Given the description of an element on the screen output the (x, y) to click on. 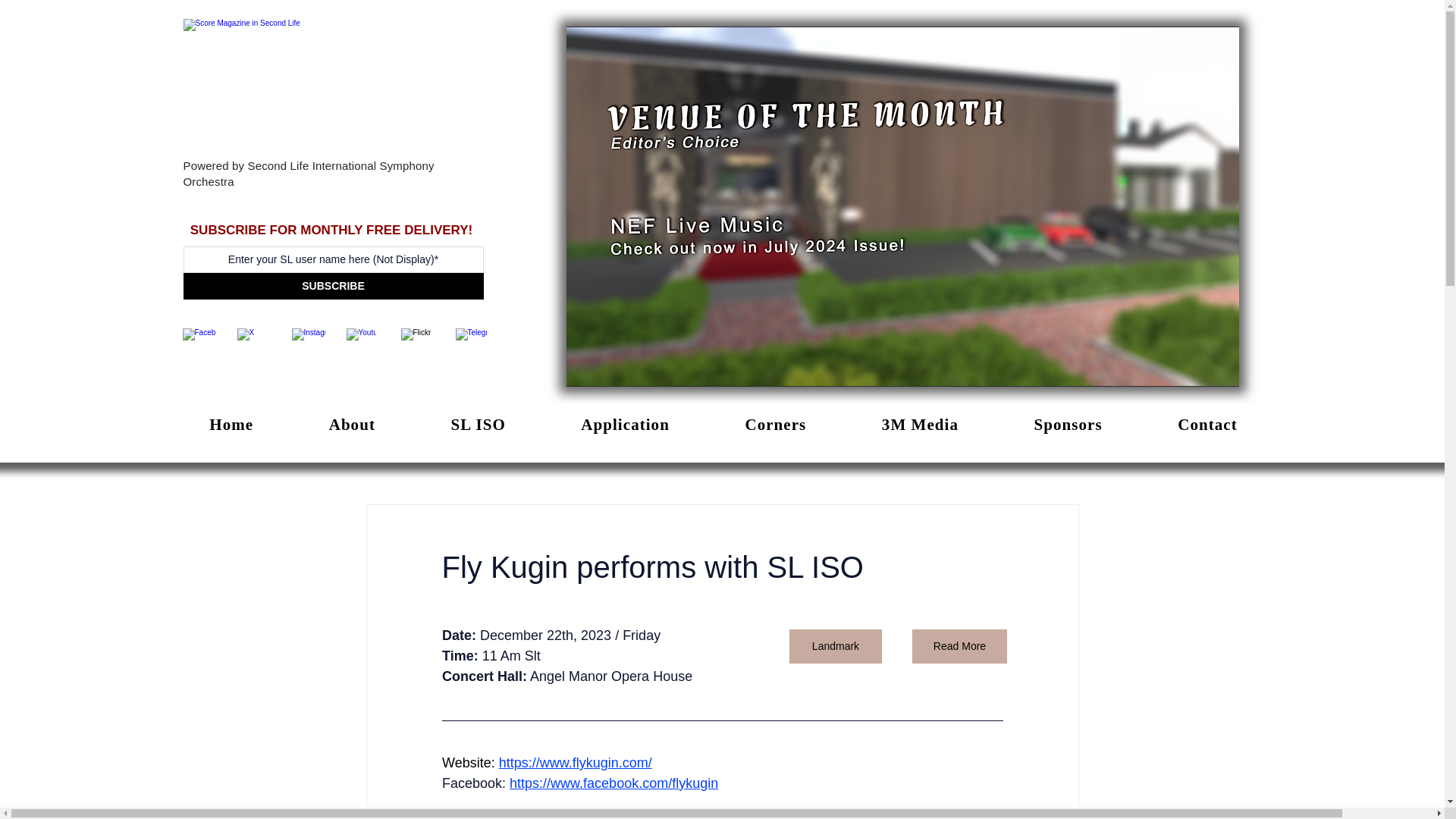
SUBSCRIBE (333, 285)
About (352, 425)
Contact (1206, 425)
SCORE - Black on White.png (333, 88)
Read More (958, 646)
Sponsors (1067, 425)
Home (230, 425)
Landmark (834, 646)
3M Media (919, 425)
